Given the description of an element on the screen output the (x, y) to click on. 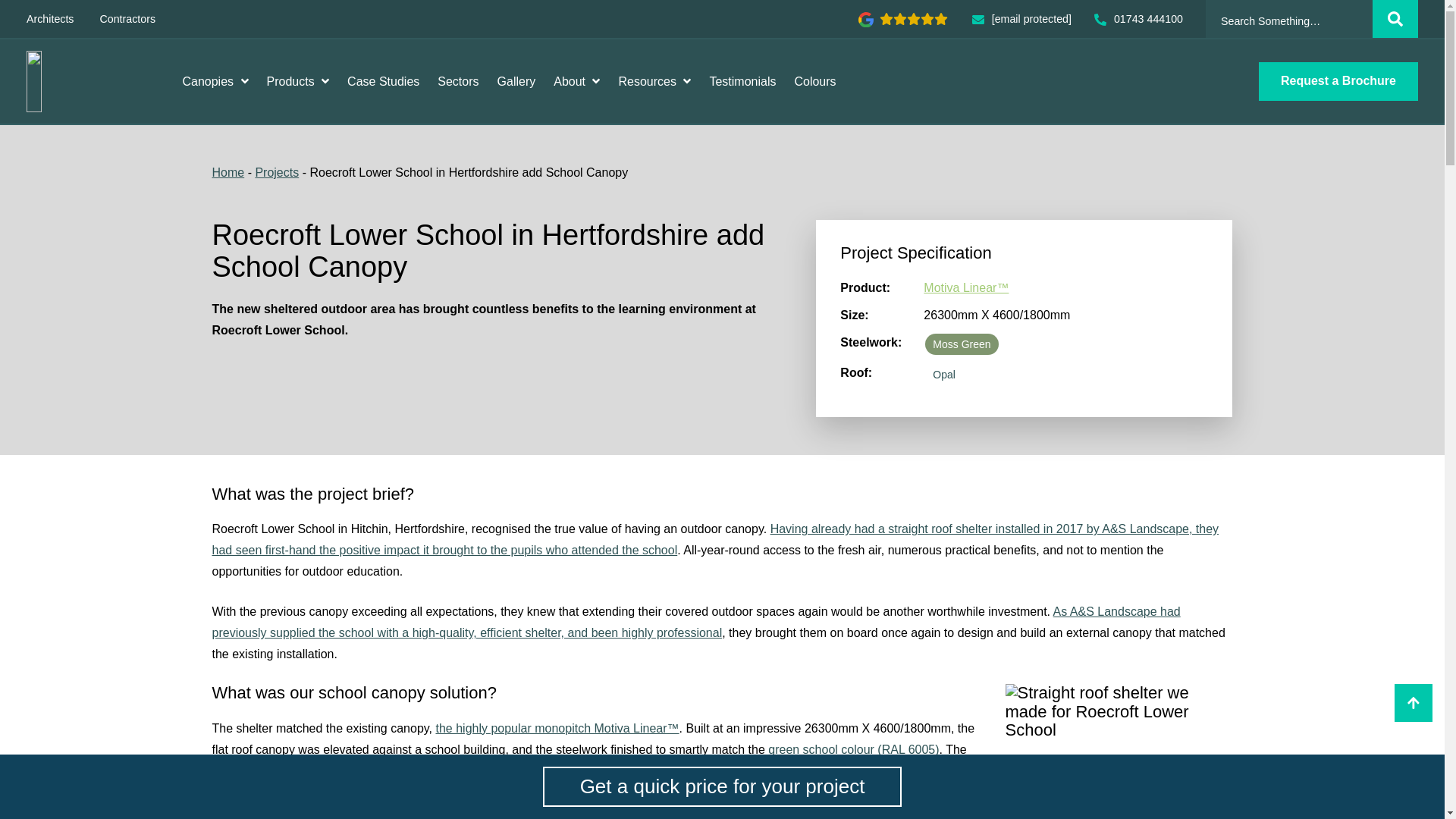
Check out our Google reviews! (902, 19)
Start your search (1395, 18)
Canopies (215, 80)
Contractors (127, 19)
Architects (50, 19)
01743 444100 (1138, 19)
